Given the description of an element on the screen output the (x, y) to click on. 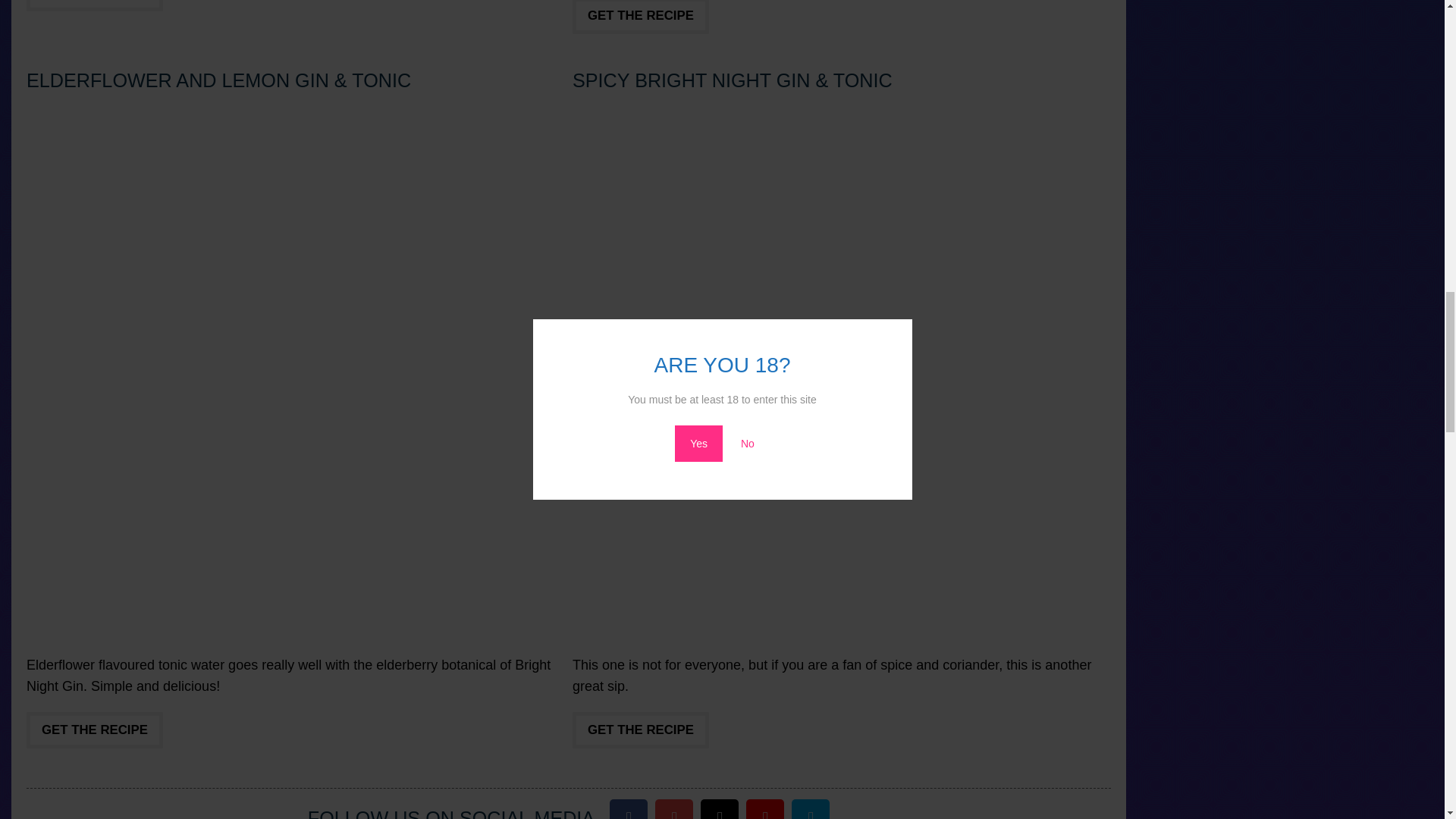
GET THE RECIPE (94, 729)
GET THE RECIPE (640, 729)
GET THE RECIPE (94, 5)
GET THE RECIPE (640, 17)
